Given the description of an element on the screen output the (x, y) to click on. 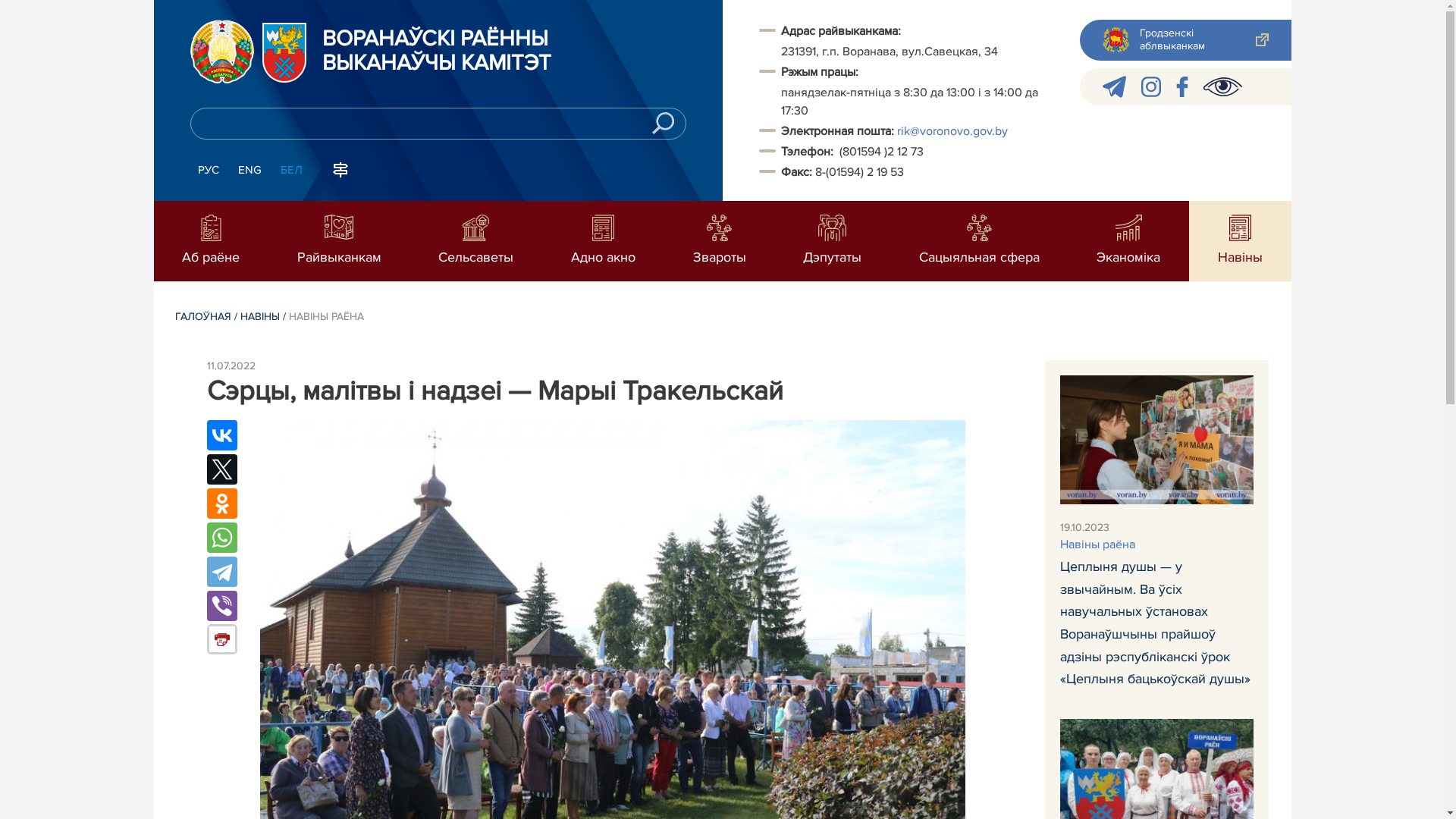
rik@voronovo.gov.by Element type: text (951, 130)
ENG Element type: text (249, 170)
Telegram Element type: hover (221, 571)
telegram Element type: hover (1114, 86)
facebook Element type: hover (1182, 86)
Viber Element type: hover (221, 605)
Twitter Element type: hover (221, 469)
WhatsApp Element type: hover (221, 537)
instagram Element type: hover (1151, 86)
